Given the description of an element on the screen output the (x, y) to click on. 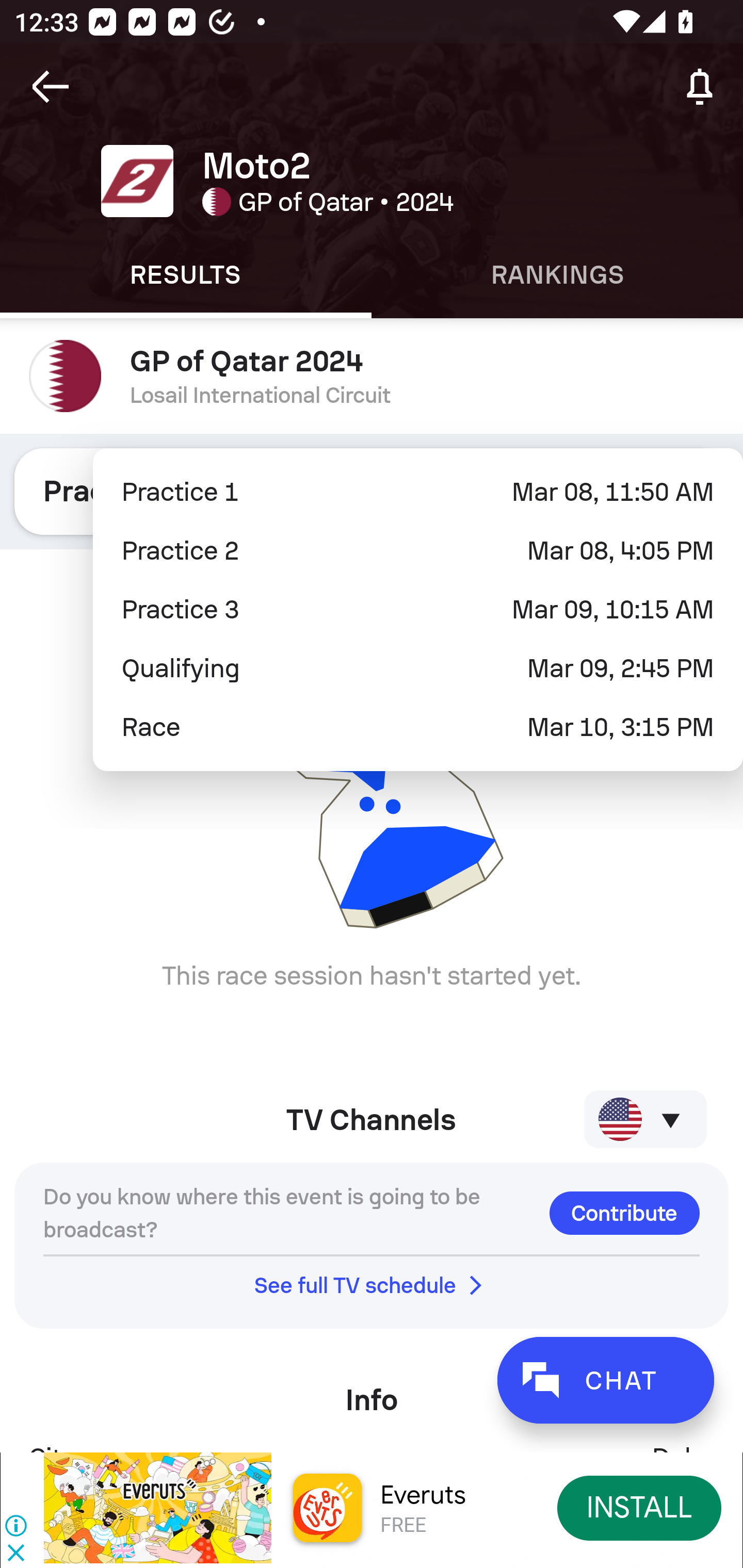
Practice 1 Mar 08, 11:50 AM (417, 492)
Practice 2 Mar 08, 4:05 PM (417, 551)
Practice 3 Mar 09, 10:15 AM (417, 609)
Qualifying Mar 09, 2:45 PM (417, 668)
Race Mar 10, 3:15 PM (417, 727)
